Given the description of an element on the screen output the (x, y) to click on. 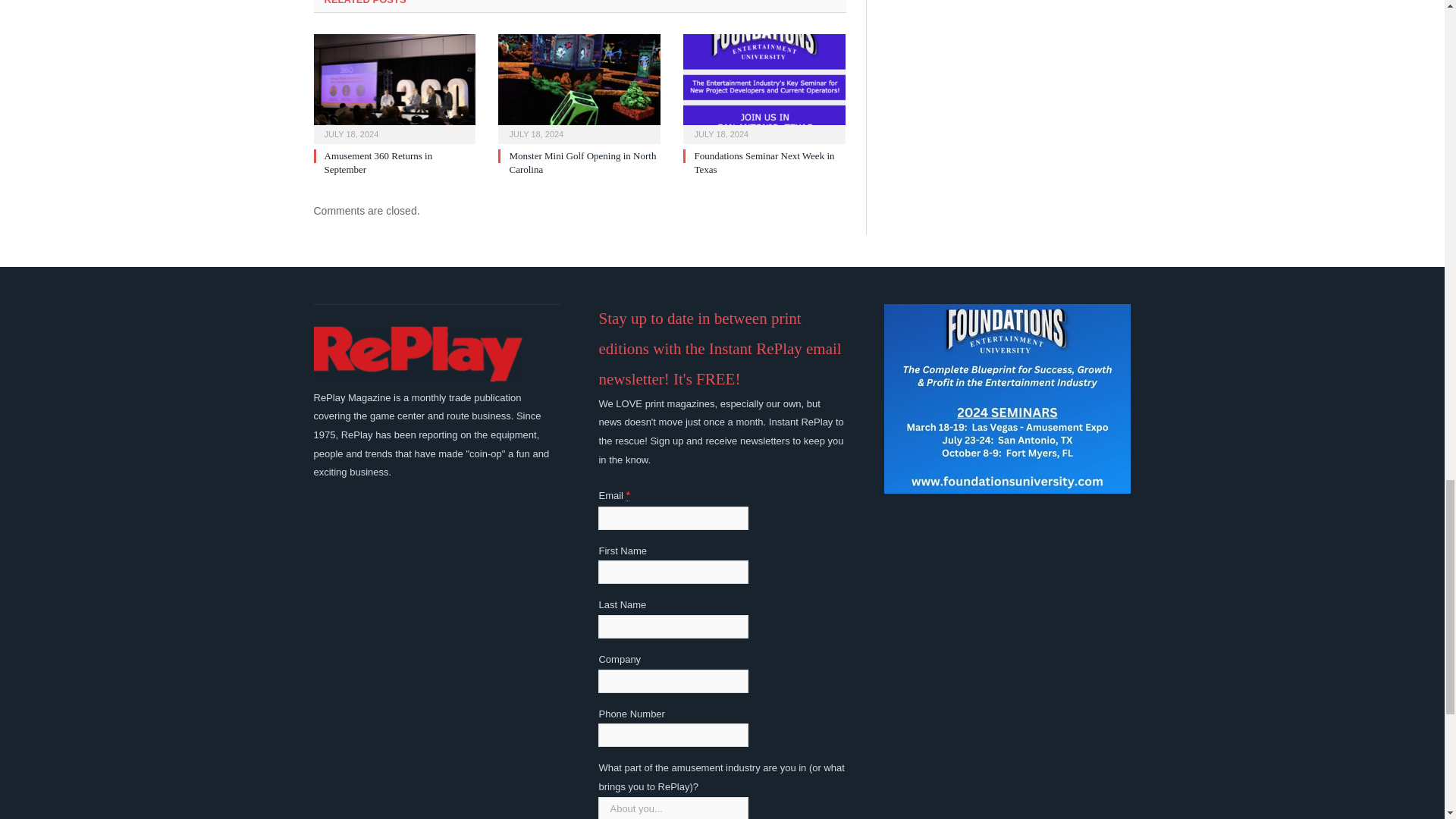
Amusement 360 Returns in September (395, 87)
Amusement 360 Returns in September (378, 162)
Monster Mini Golf Opening in North Carolina (579, 87)
